Given the description of an element on the screen output the (x, y) to click on. 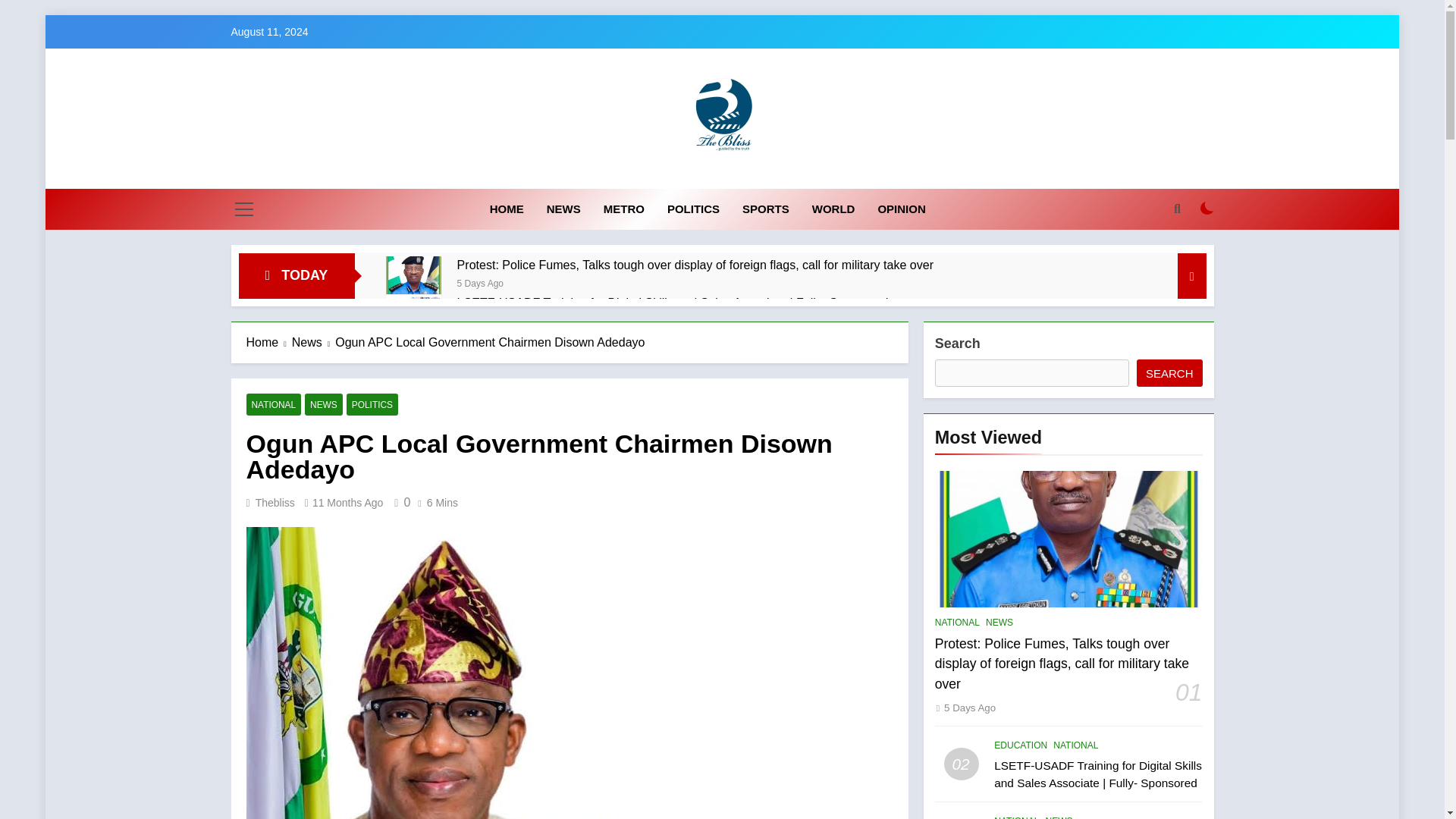
The Bliss News (612, 176)
on (1206, 208)
POLITICS (693, 209)
WORLD (833, 209)
SPORTS (765, 209)
METRO (624, 209)
HOME (507, 209)
